Given the description of an element on the screen output the (x, y) to click on. 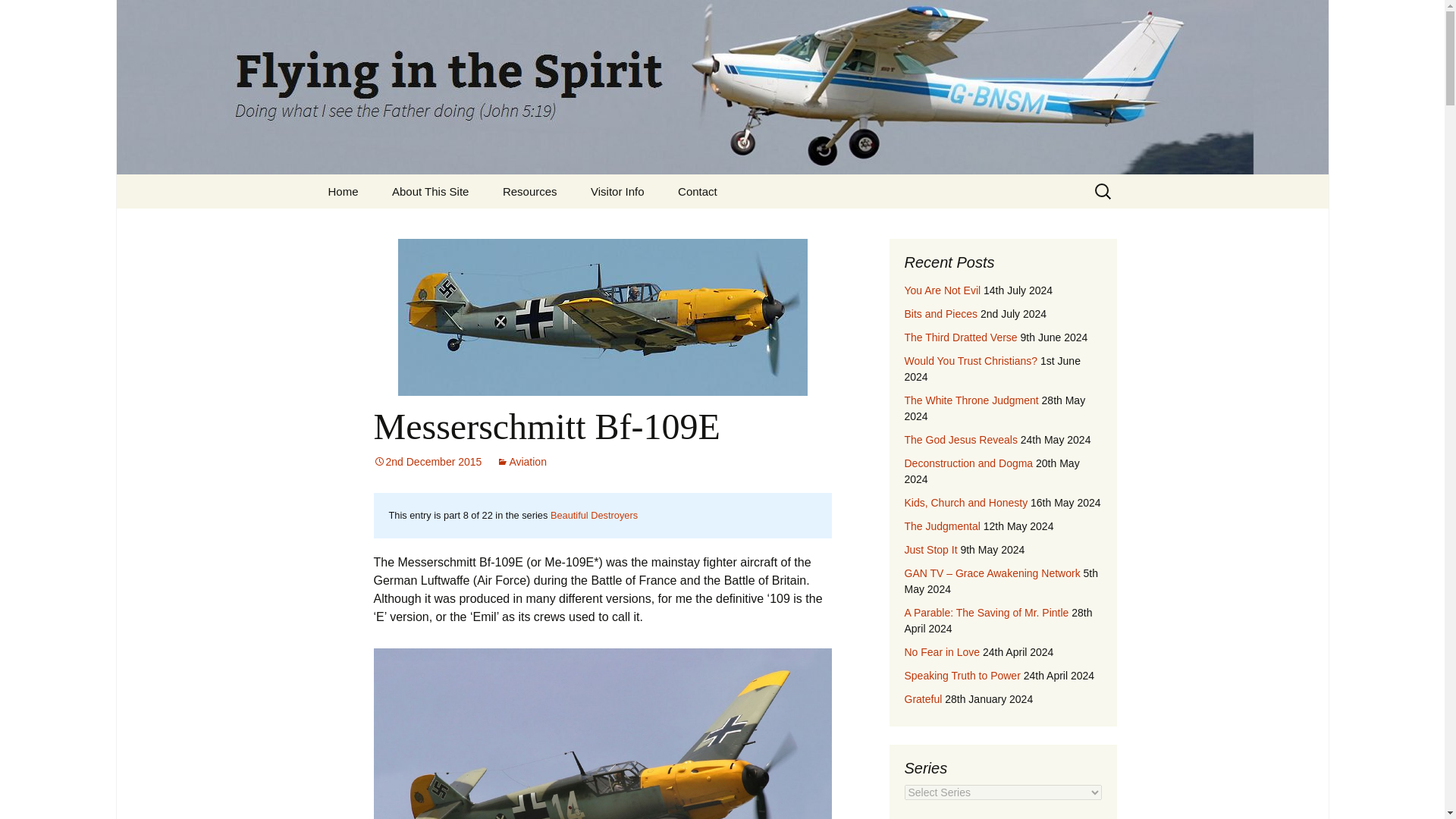
About This Site (430, 191)
Permalink to Messerschmitt Bf-109E (426, 461)
Beautiful Destroyers (593, 514)
Home (342, 191)
Visitor Info (617, 191)
2nd December 2015 (426, 461)
Contact (697, 191)
Aviation (521, 461)
Beautiful Destroyers (593, 514)
About Me (452, 225)
Vintage Worship Tapes (563, 225)
Search (18, 15)
Comments Policy (650, 225)
Resources (529, 191)
